Given the description of an element on the screen output the (x, y) to click on. 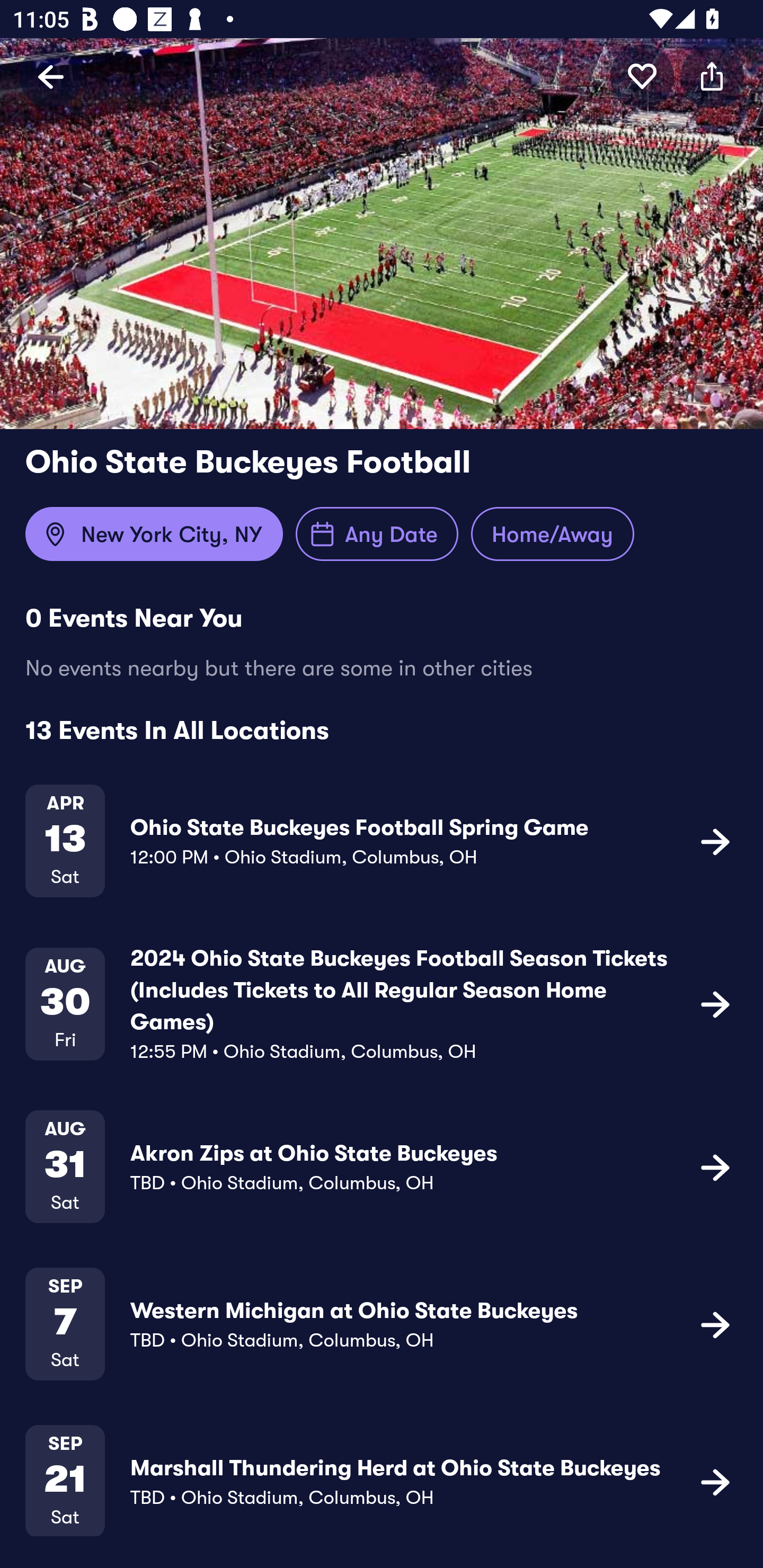
Back (50, 75)
icon button (641, 75)
icon button (711, 75)
New York City, NY (153, 533)
Any Date (377, 533)
Home/Away (552, 533)
icon button (714, 840)
icon button (714, 1003)
icon button (714, 1166)
icon button (714, 1323)
icon button (714, 1481)
